Given the description of an element on the screen output the (x, y) to click on. 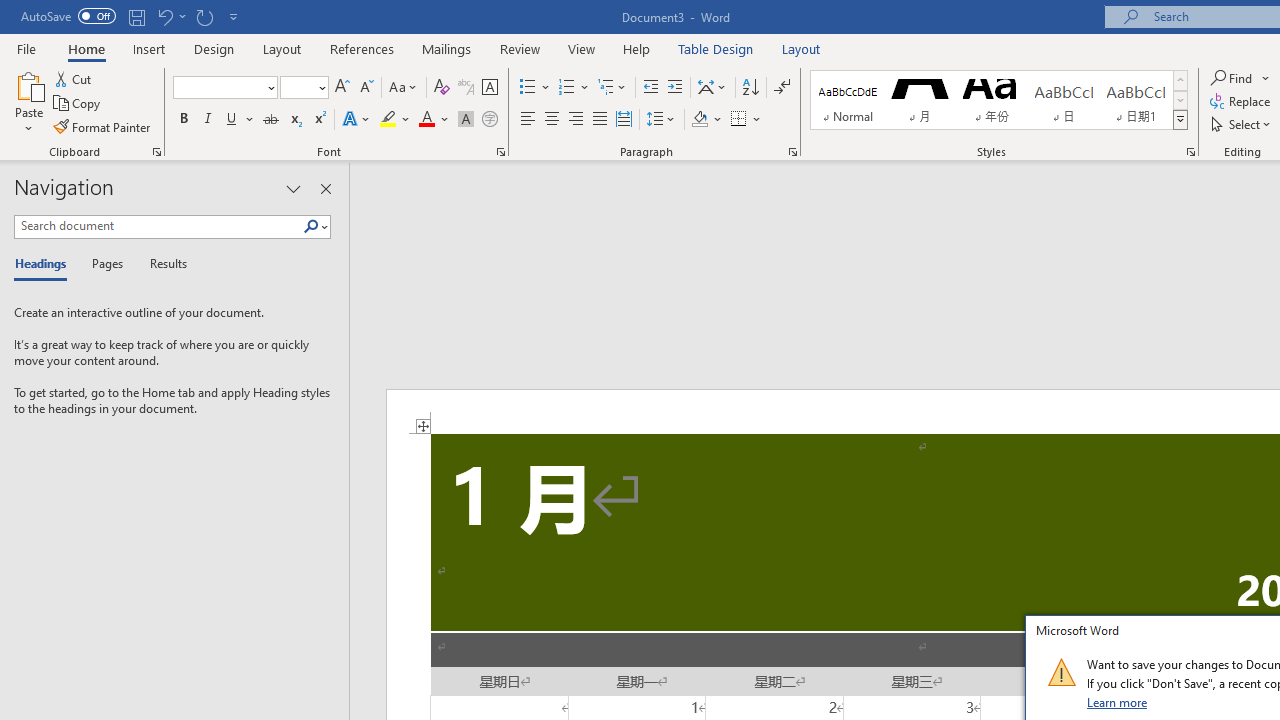
Learn more (1118, 702)
Layout (801, 48)
Results (161, 264)
Undo Shrink Font (164, 15)
Text Highlight Color Yellow (388, 119)
Font Size (304, 87)
Enclose Characters... (489, 119)
Align Right (575, 119)
Subscript (294, 119)
Strikethrough (270, 119)
Align Left (527, 119)
Numbering (566, 87)
Row Down (1179, 100)
Sort... (750, 87)
